Given the description of an element on the screen output the (x, y) to click on. 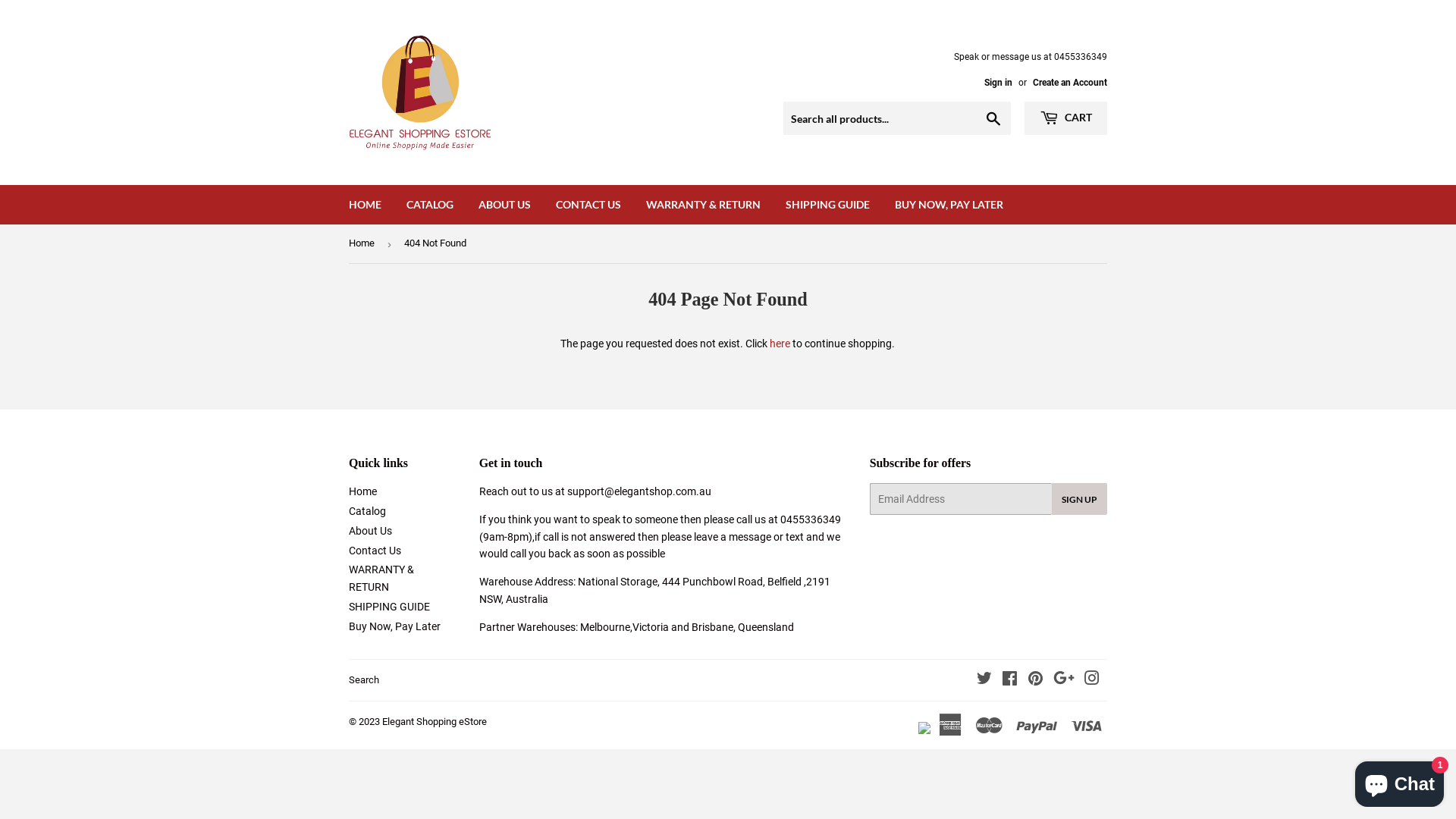
WARRANTY & RETURN Element type: text (702, 204)
Elegant Shopping eStore Element type: text (434, 721)
SHIPPING GUIDE Element type: text (388, 606)
BUY NOW, PAY LATER Element type: text (948, 204)
Buy Now, Pay Later Element type: text (394, 626)
Twitter Element type: text (983, 680)
Shopify online store chat Element type: hover (1399, 780)
WARRANTY & RETURN Element type: text (381, 577)
Search Element type: text (993, 118)
About Us Element type: text (370, 530)
Search Element type: text (363, 679)
Contact Us Element type: text (374, 550)
SHIPPING GUIDE Element type: text (827, 204)
Sign in Element type: text (998, 82)
Google Element type: text (1063, 680)
ABOUT US Element type: text (504, 204)
Facebook Element type: text (1009, 680)
HOME Element type: text (364, 204)
Home Element type: text (363, 243)
SIGN UP Element type: text (1079, 498)
Catalog Element type: text (366, 511)
CART Element type: text (1065, 117)
here Element type: text (779, 343)
Instagram Element type: text (1091, 680)
Pinterest Element type: text (1035, 680)
Create an Account Element type: text (1069, 82)
Home Element type: text (362, 491)
CATALOG Element type: text (429, 204)
CONTACT US Element type: text (588, 204)
